Given the description of an element on the screen output the (x, y) to click on. 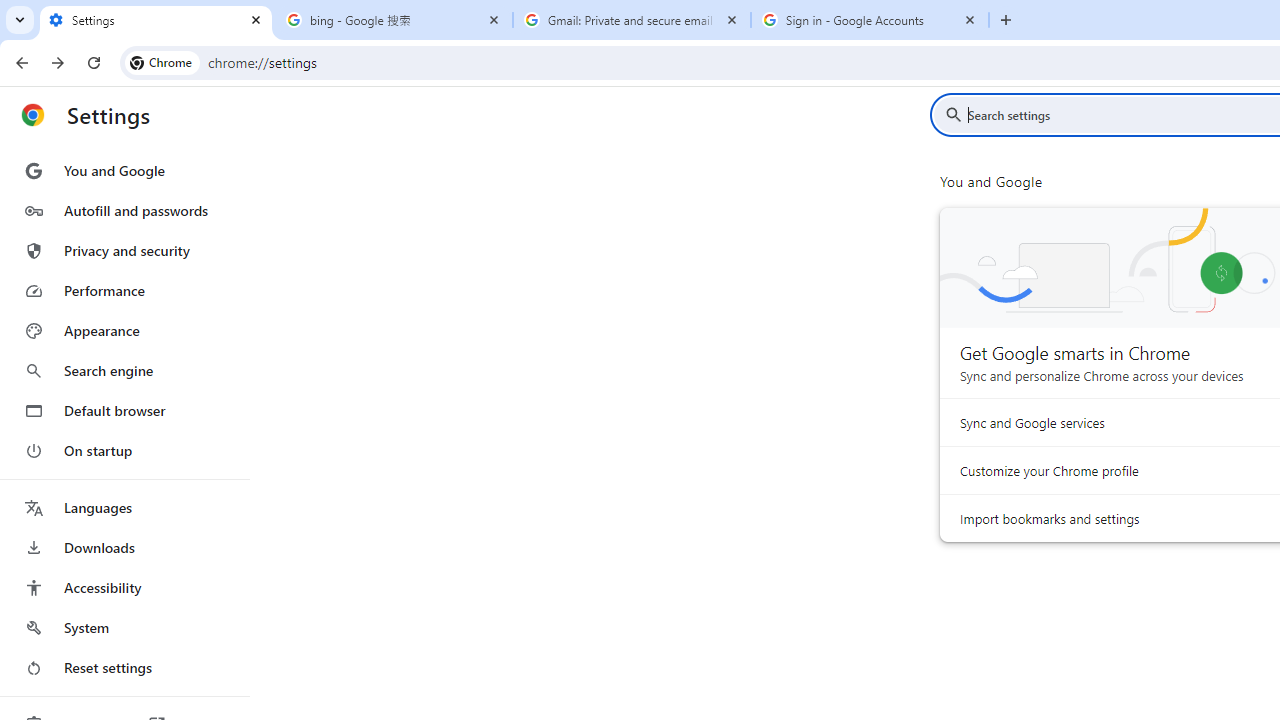
Search engine (124, 370)
Autofill and passwords (124, 210)
Sign in - Google Accounts (870, 20)
You and Google (124, 170)
Privacy and security (124, 250)
On startup (124, 450)
